Given the description of an element on the screen output the (x, y) to click on. 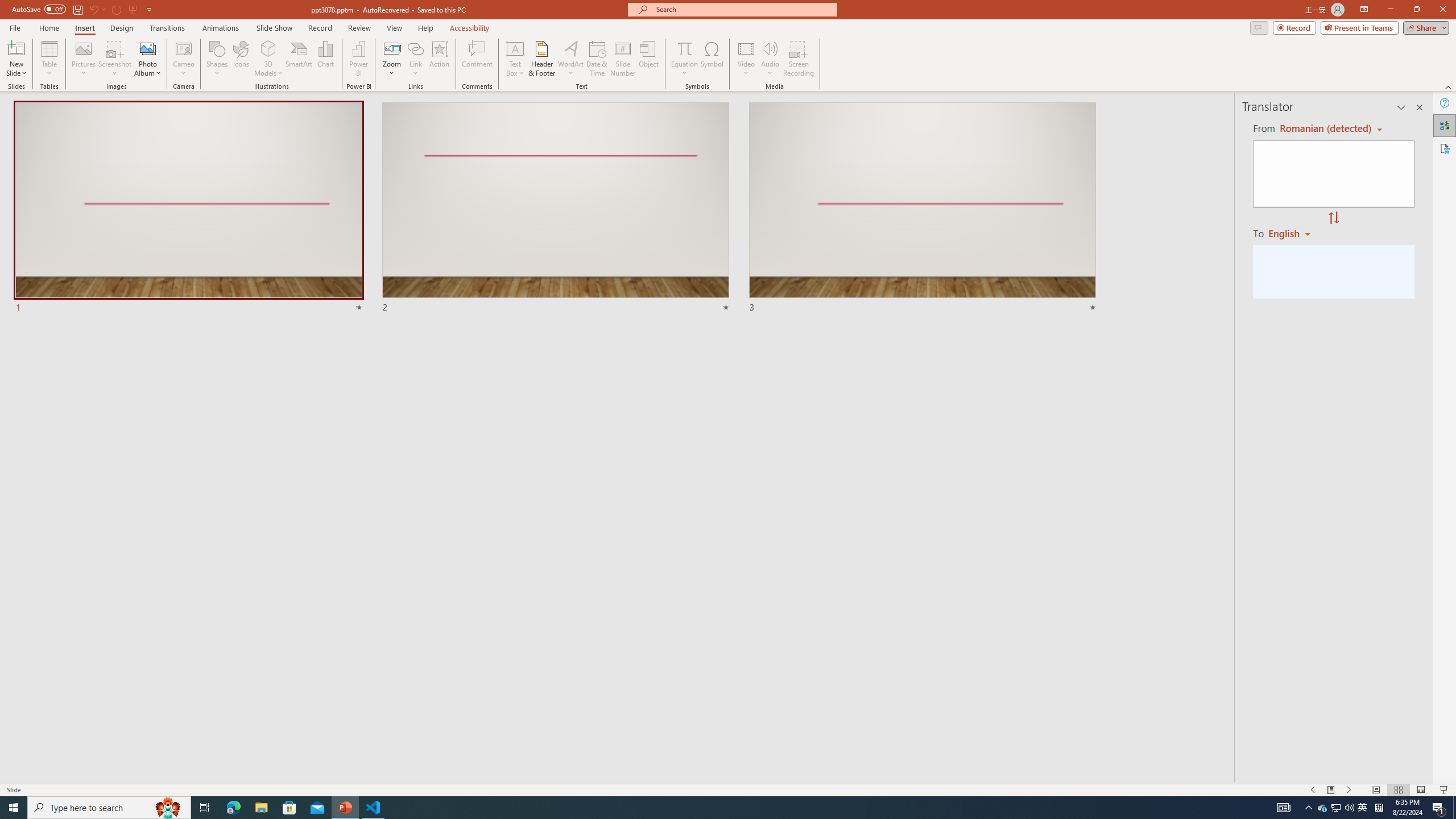
3D Models (268, 48)
Slide Show Previous On (1313, 790)
Screenshot (114, 58)
Action (439, 58)
Link (415, 58)
